Given the description of an element on the screen output the (x, y) to click on. 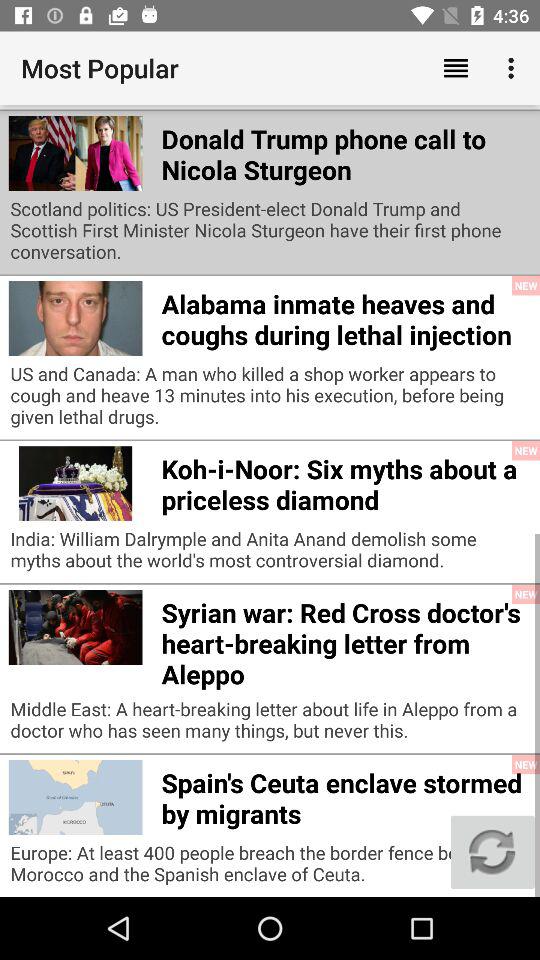
turn off middle east a app (270, 724)
